Given the description of an element on the screen output the (x, y) to click on. 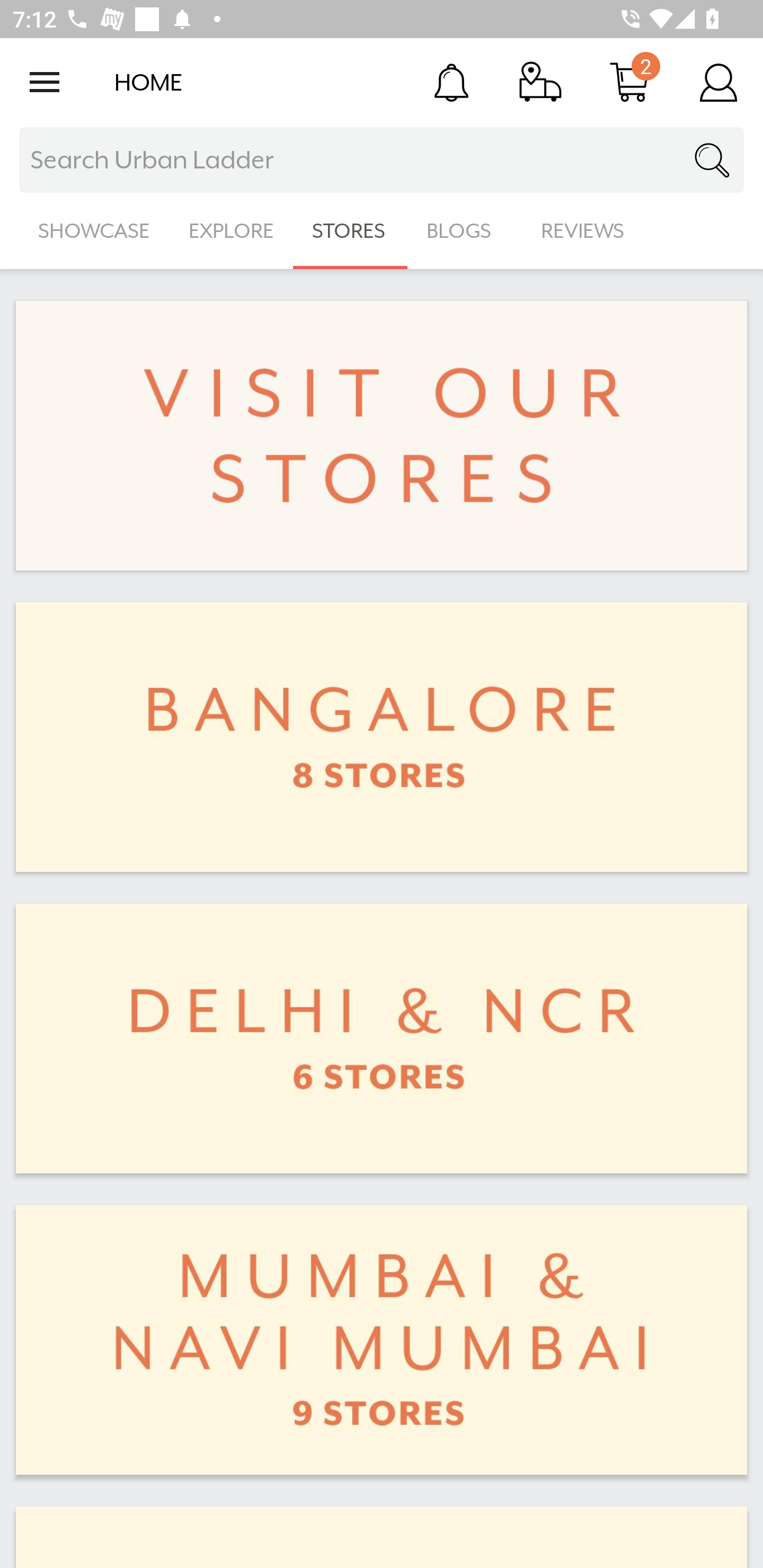
Open navigation drawer (44, 82)
Notification (450, 81)
Track Order (540, 81)
Cart (629, 81)
Account Details (718, 81)
Search Urban Ladder  (381, 159)
SHOWCASE (94, 230)
EXPLORE (230, 230)
STORES (349, 230)
BLOGS (464, 230)
REVIEWS (582, 230)
